Given the description of an element on the screen output the (x, y) to click on. 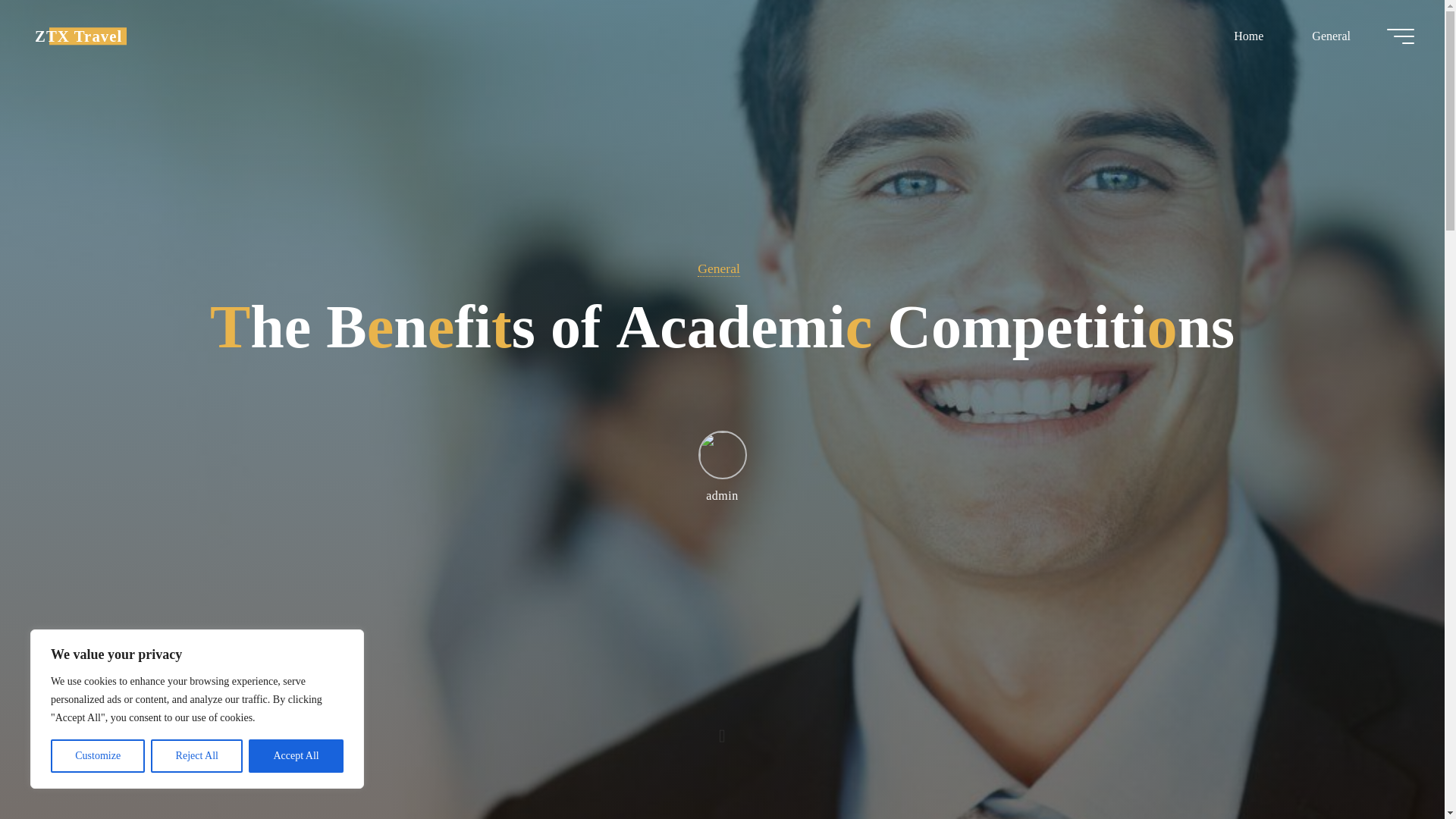
Blog (78, 36)
Accept All (295, 756)
ZTX Travel (78, 36)
Customize (97, 756)
General (1330, 35)
Home (1248, 35)
General (718, 268)
Read more (721, 724)
Reject All (197, 756)
